Given the description of an element on the screen output the (x, y) to click on. 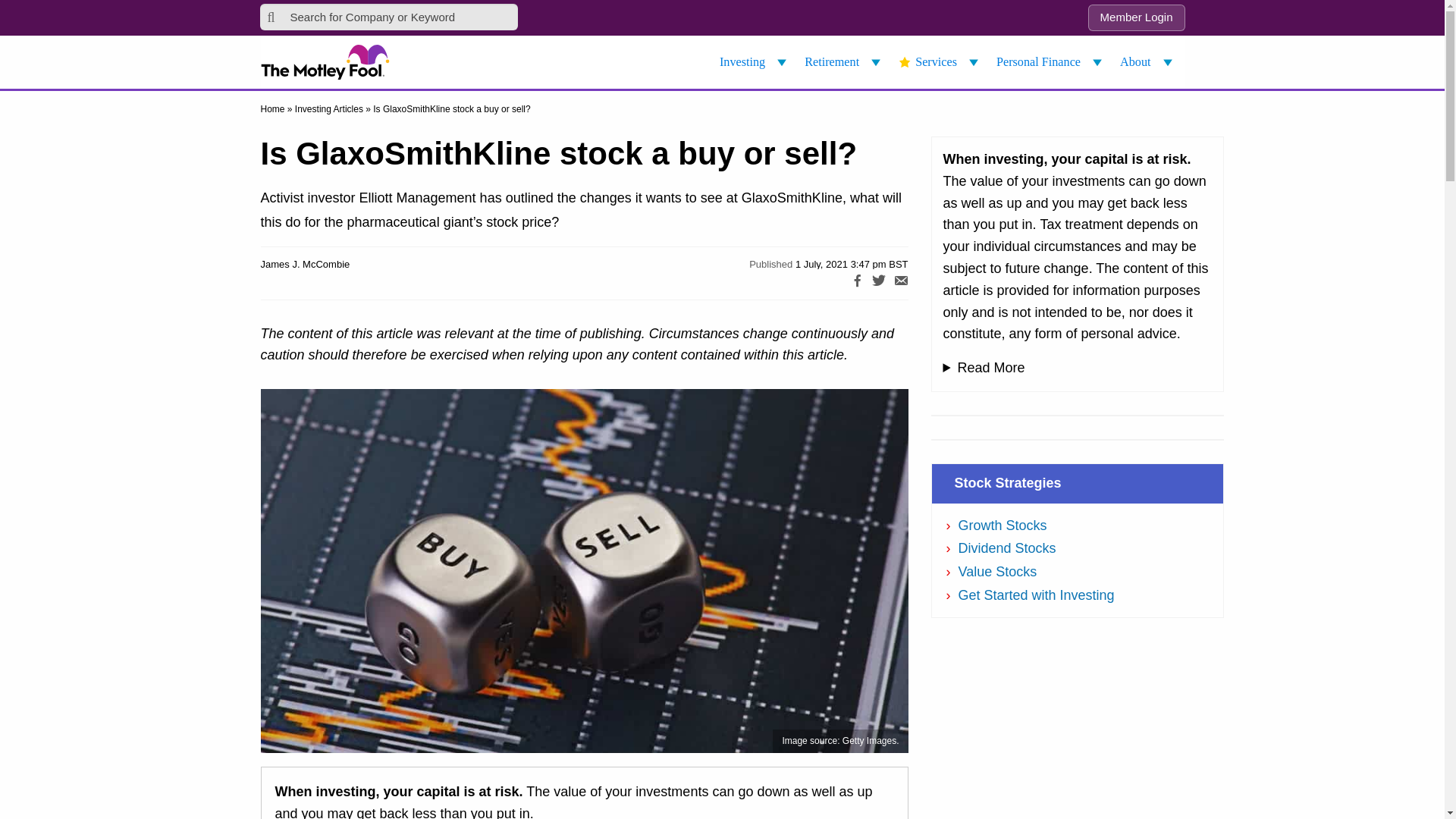
Member Login (1136, 17)
Services (941, 62)
Retirement (844, 62)
Investing (755, 62)
